Given the description of an element on the screen output the (x, y) to click on. 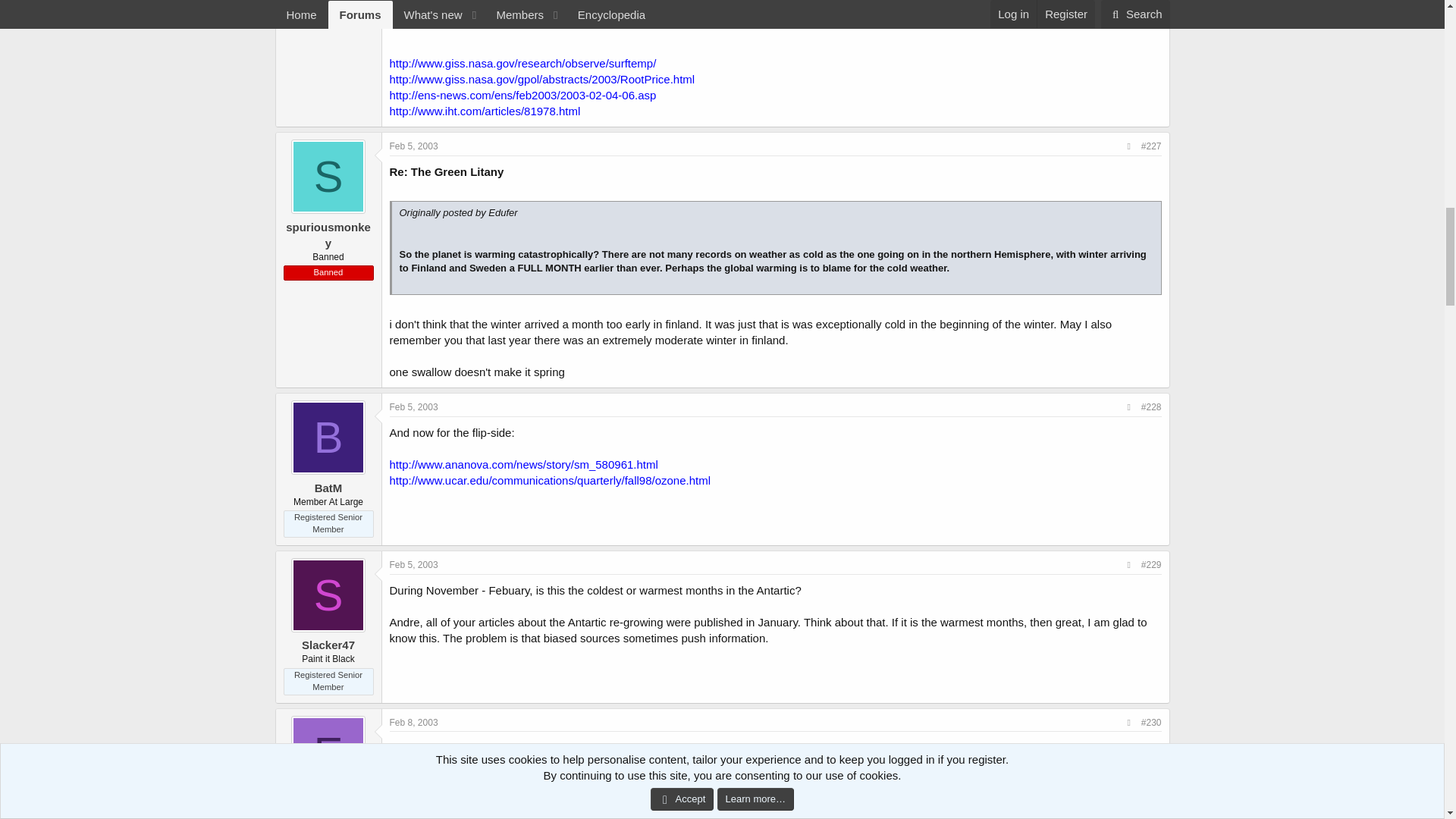
Feb 5, 2003 at 10:42 PM (414, 407)
Roll Eyes    :rolleyes: (770, 13)
Feb 5, 2003 at 3:00 PM (414, 145)
